Given the description of an element on the screen output the (x, y) to click on. 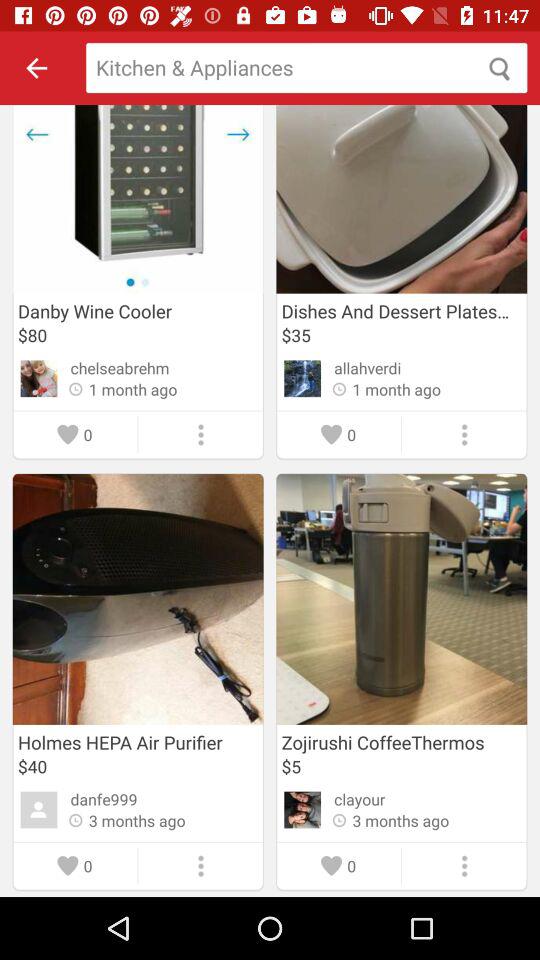
go back (36, 68)
